Given the description of an element on the screen output the (x, y) to click on. 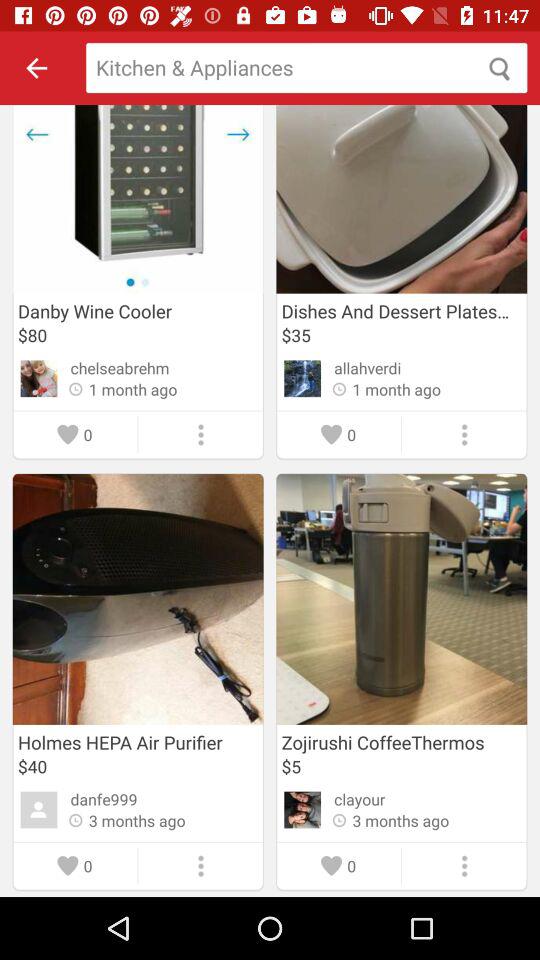
go back (36, 68)
